Given the description of an element on the screen output the (x, y) to click on. 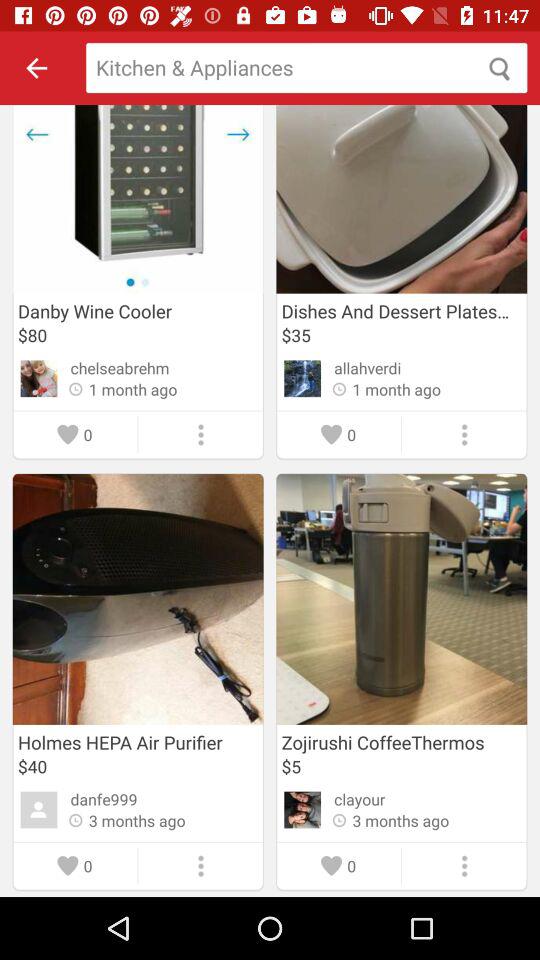
go back (36, 68)
